Given the description of an element on the screen output the (x, y) to click on. 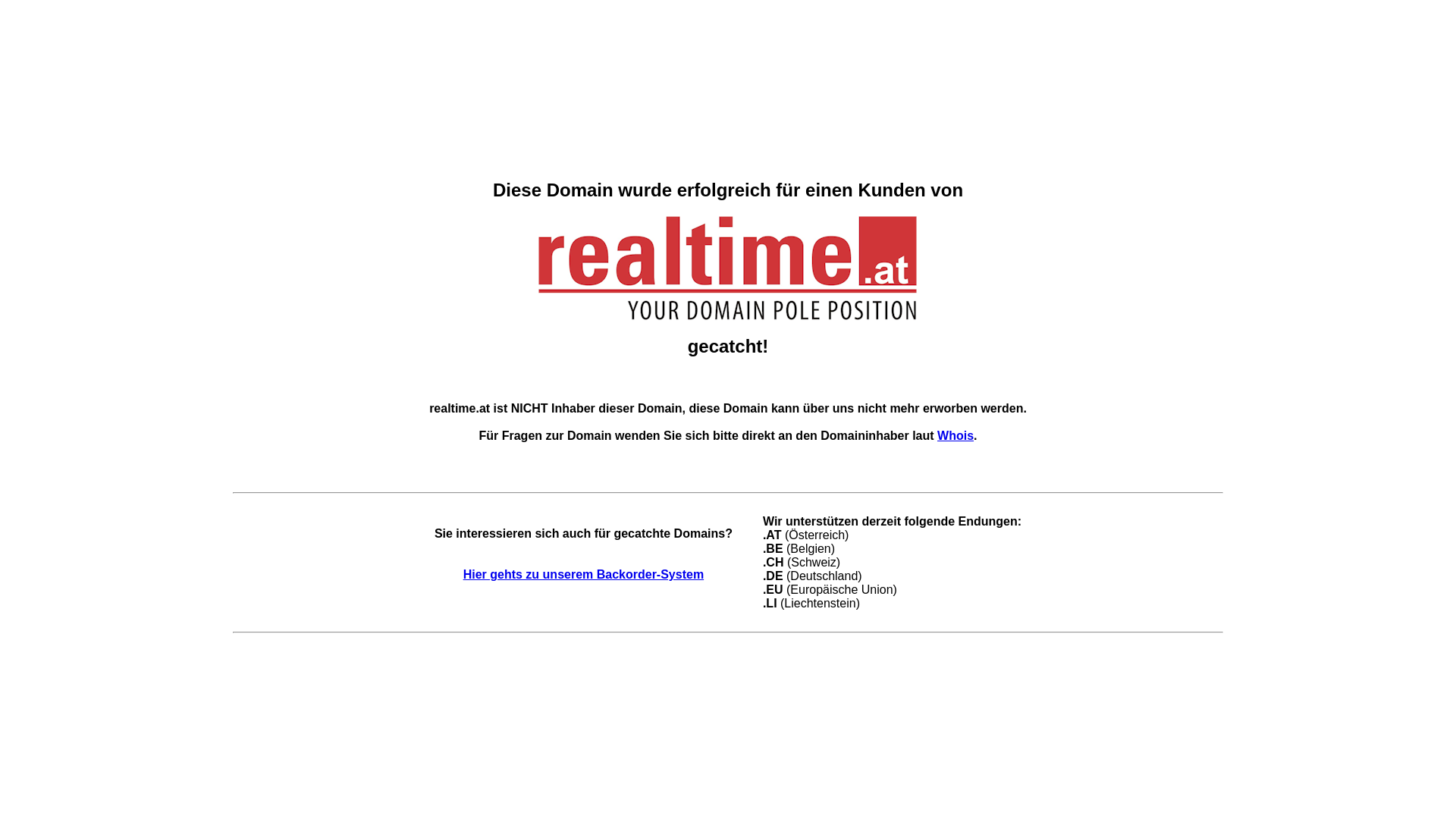
Whois Element type: text (955, 435)
Hier gehts zu unserem Backorder-System Element type: text (583, 573)
